Given the description of an element on the screen output the (x, y) to click on. 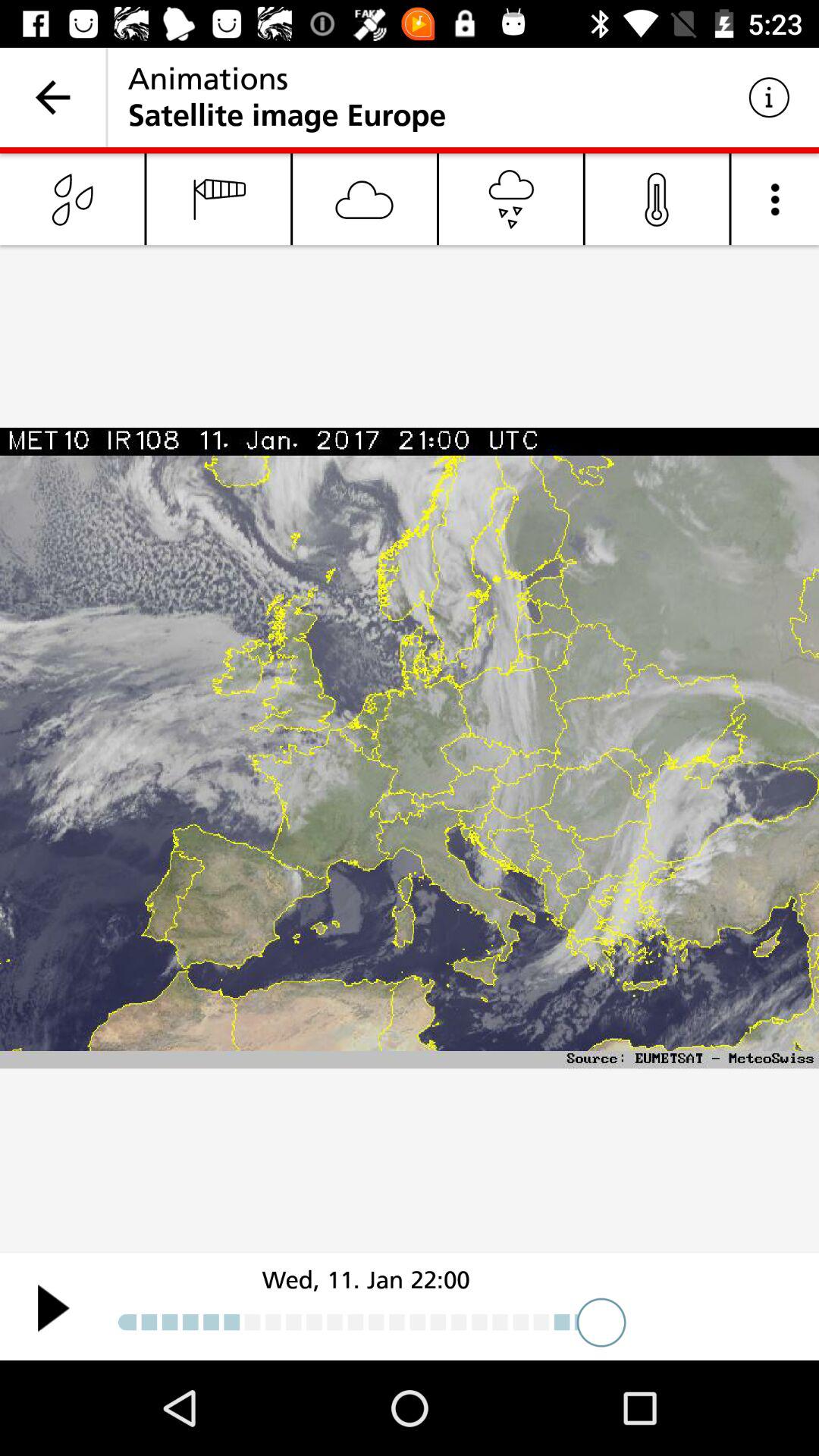
choose icon to the left of the animations icon (52, 97)
